Given the description of an element on the screen output the (x, y) to click on. 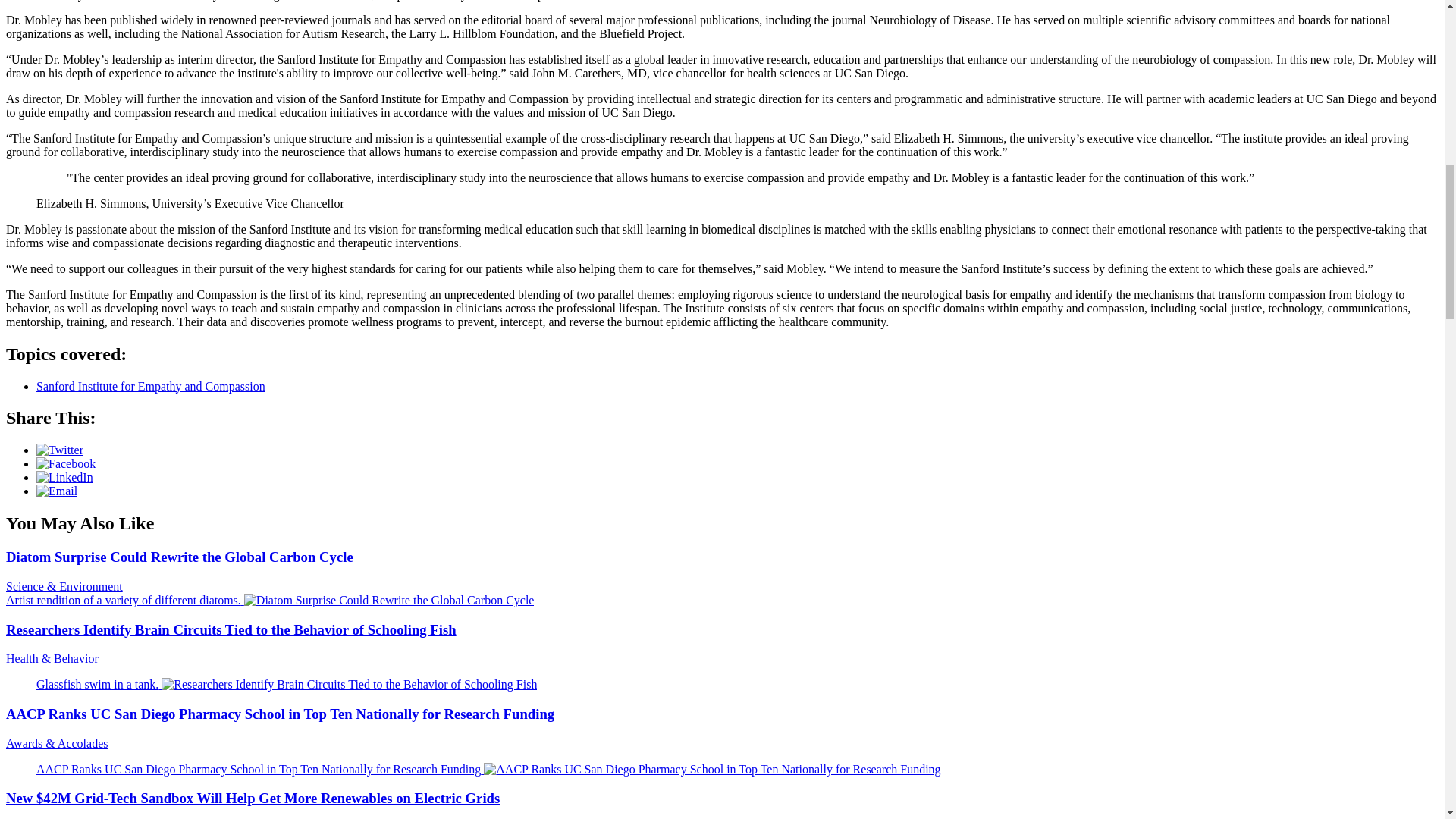
Diatom Surprise Could Rewrite the Global Carbon Cycle (179, 556)
Artist rendition of a variety of different diatoms. (269, 599)
Glassfish swim in a tank. (286, 684)
Sanford Institute for Empathy and Compassion (150, 385)
